Given the description of an element on the screen output the (x, y) to click on. 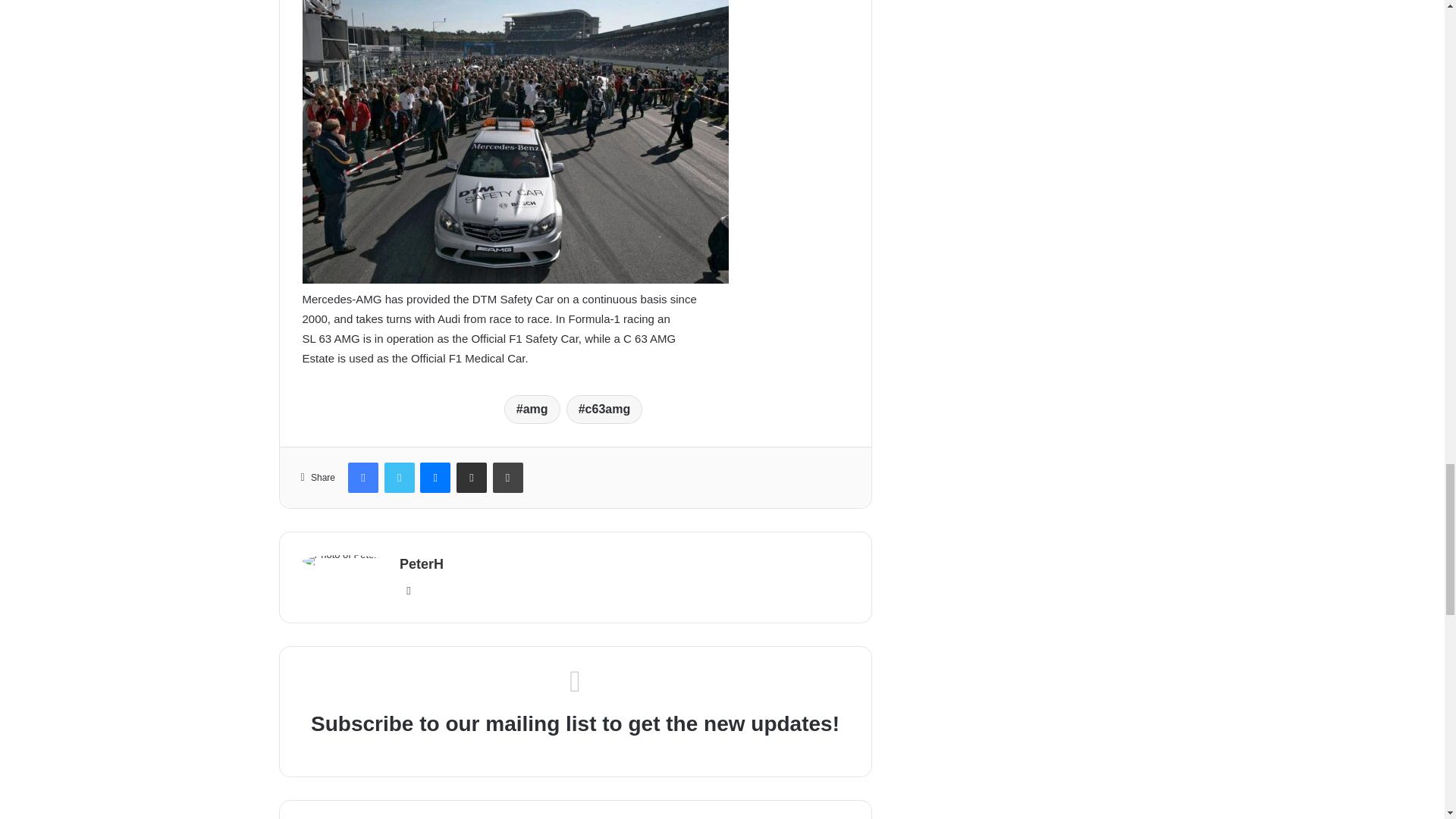
amg (531, 409)
Facebook (362, 477)
c63amg (604, 409)
Twitter (399, 477)
